Given the description of an element on the screen output the (x, y) to click on. 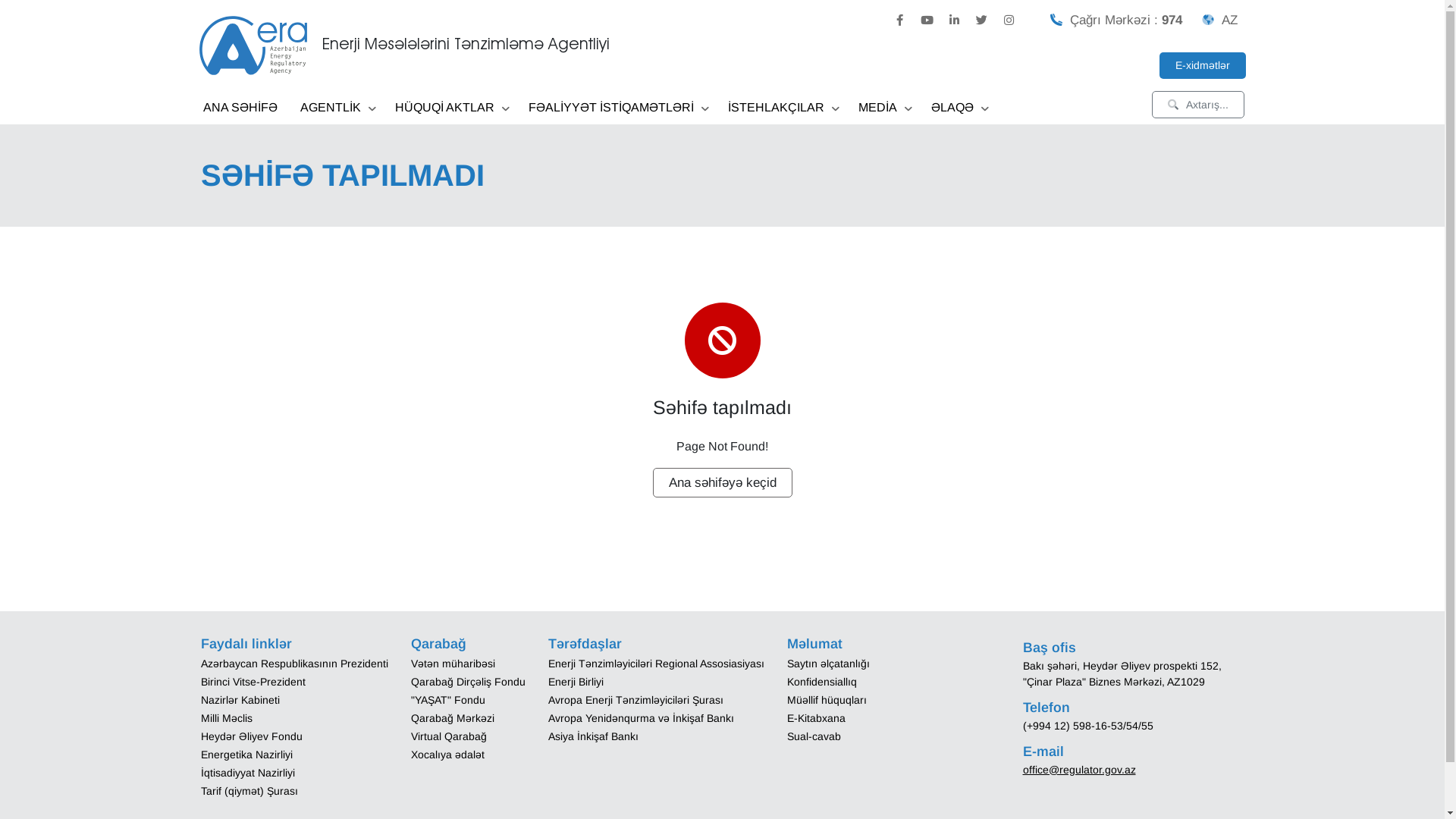
office@regulator.gov.az Element type: text (1078, 768)
E-Kitabxana Element type: text (816, 717)
Enerji Birliyi Element type: text (574, 680)
Sual-cavab Element type: text (813, 735)
Energetika Nazirliyi Element type: text (245, 753)
Birinci Vitse-Prezident Element type: text (252, 680)
